Given the description of an element on the screen output the (x, y) to click on. 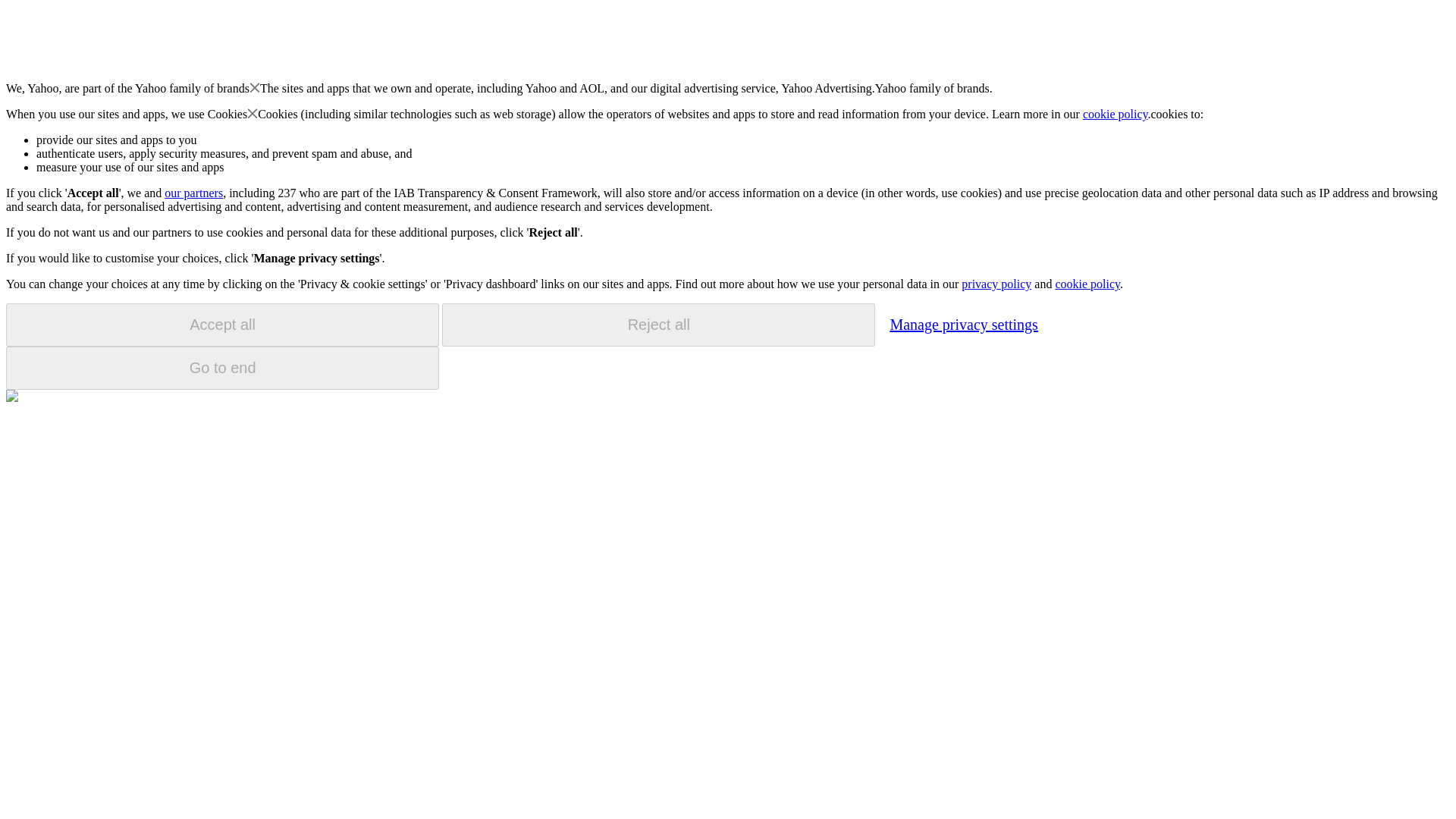
Reject all (658, 324)
Manage privacy settings (963, 323)
cookie policy (1086, 283)
Go to end (222, 367)
our partners (193, 192)
cookie policy (1115, 113)
privacy policy (995, 283)
Accept all (222, 324)
